Given the description of an element on the screen output the (x, y) to click on. 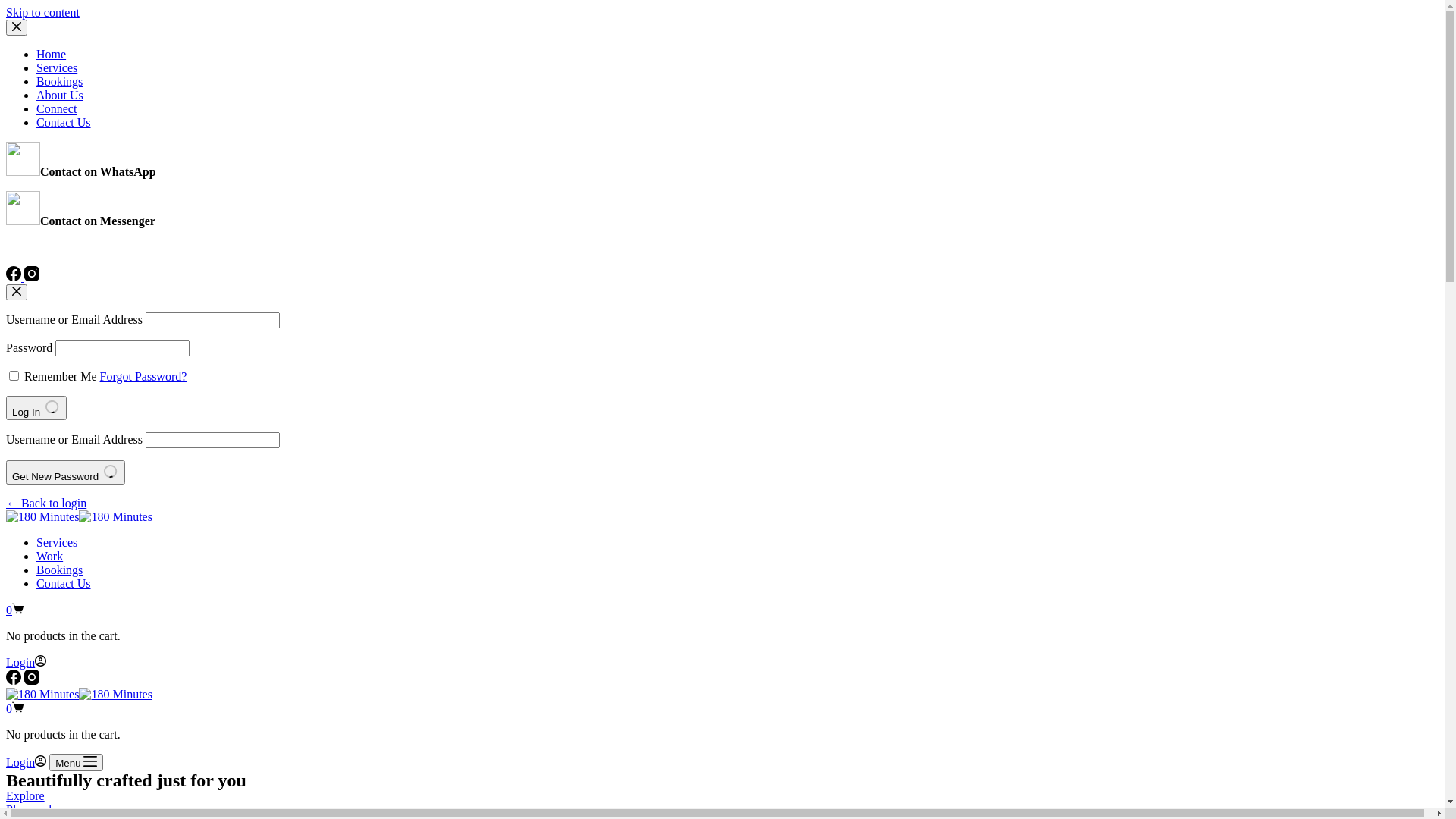
Services Element type: text (56, 542)
Services Element type: text (56, 67)
Place order Element type: text (33, 809)
Forgot Password? Element type: text (143, 376)
Connect Element type: text (56, 108)
Menu Element type: text (76, 762)
Home Element type: text (50, 53)
0 Element type: text (14, 609)
Bookings Element type: text (59, 569)
Get New Password Element type: text (65, 472)
Contact Us Element type: text (63, 583)
Skip to content Element type: text (42, 12)
Login Element type: text (26, 661)
Contact Us Element type: text (63, 122)
Log In Element type: text (36, 407)
Bookings Element type: text (59, 81)
0 Element type: text (14, 708)
Login Element type: text (26, 762)
Explore Element type: text (25, 795)
Work Element type: text (49, 555)
About Us Element type: text (59, 94)
